Given the description of an element on the screen output the (x, y) to click on. 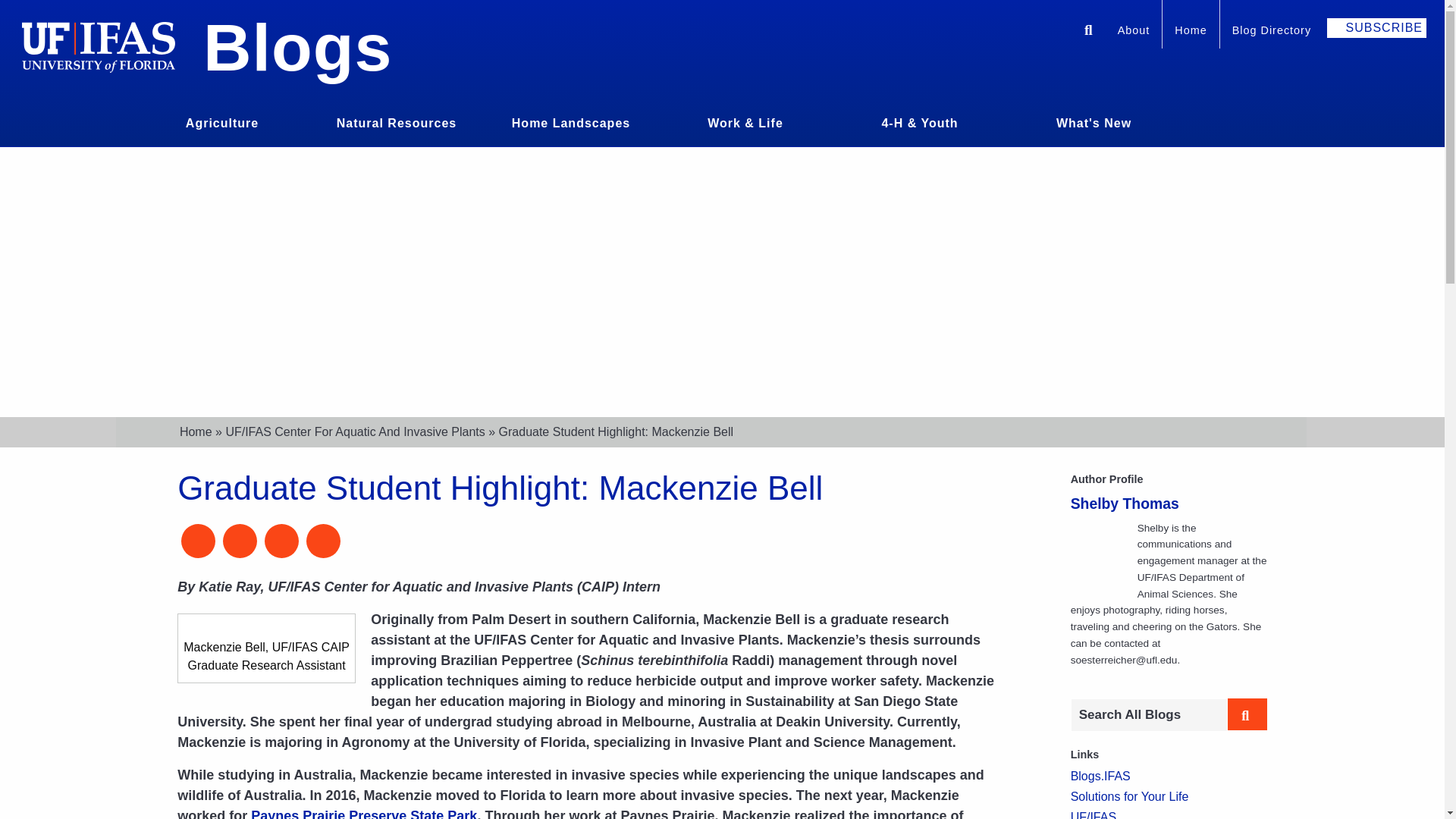
Natural Resources (396, 121)
About (1133, 32)
Blogs (297, 47)
Blog Directory (1271, 32)
SUBSCRIBE (1376, 27)
Search All Blogs (1148, 715)
Agriculture (221, 121)
Home Landscapes (571, 121)
Home (1189, 32)
